Given the description of an element on the screen output the (x, y) to click on. 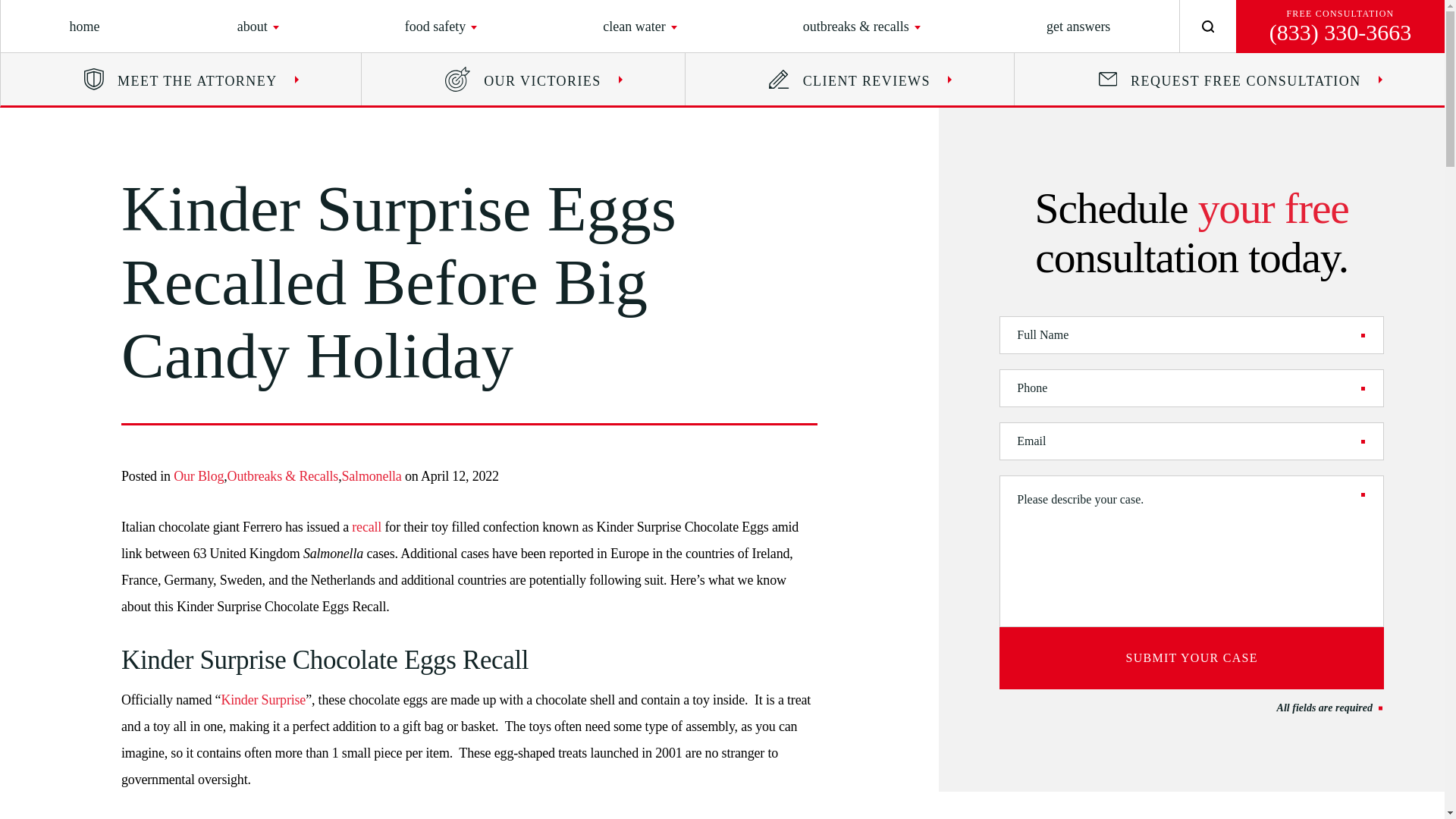
food safety (434, 26)
clean water (633, 26)
home (84, 26)
SUBMIT YOUR CASE (1191, 658)
about (252, 26)
